Given the description of an element on the screen output the (x, y) to click on. 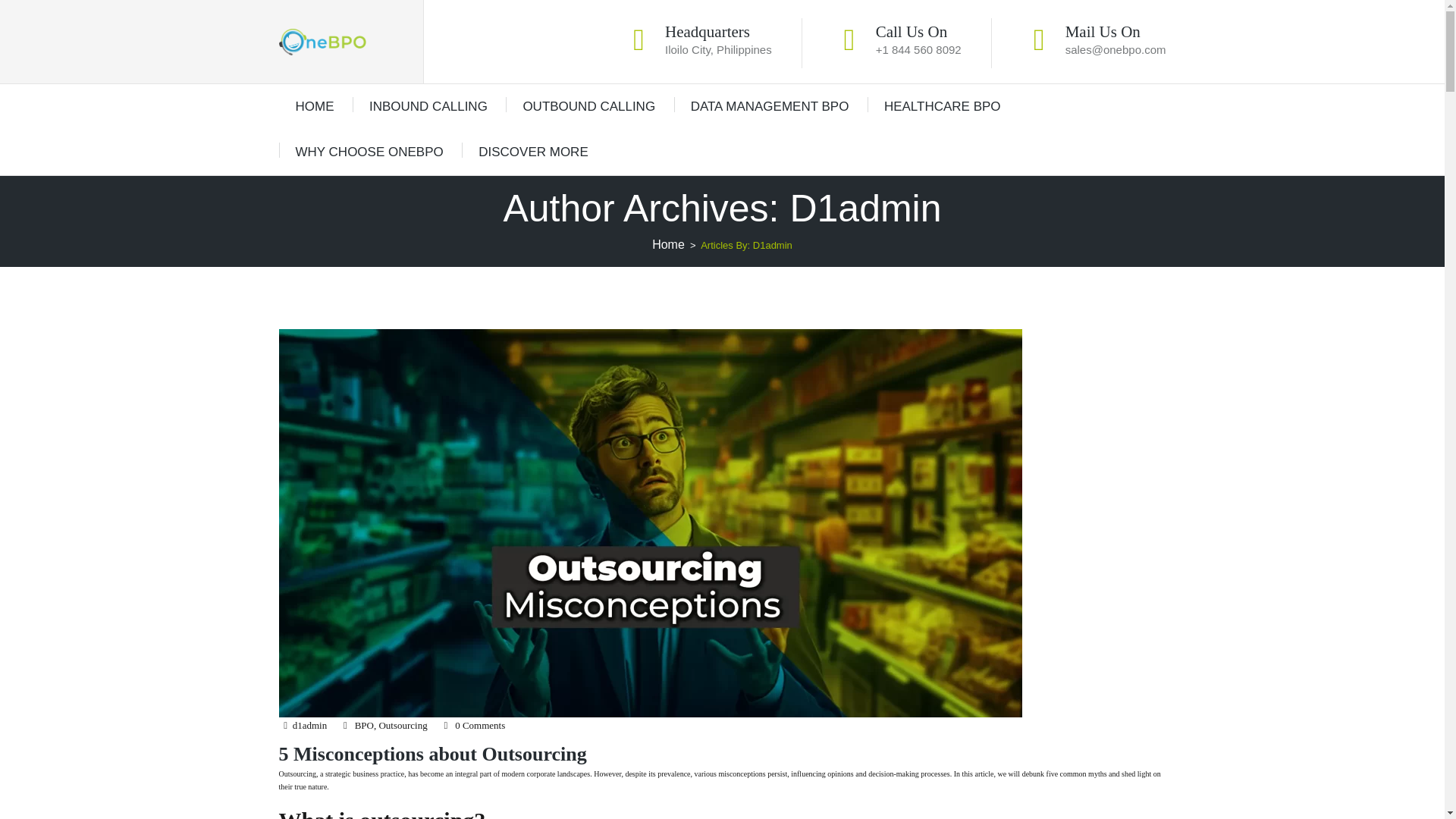
Go to OneBPO. (668, 244)
INBOUND CALLING (428, 106)
HEALTHCARE BPO (942, 106)
OneBPO (322, 41)
DATA MANAGEMENT BPO (769, 106)
DISCOVER MORE (533, 152)
WHY CHOOSE ONEBPO (369, 152)
OUTBOUND CALLING (588, 106)
